Given the description of an element on the screen output the (x, y) to click on. 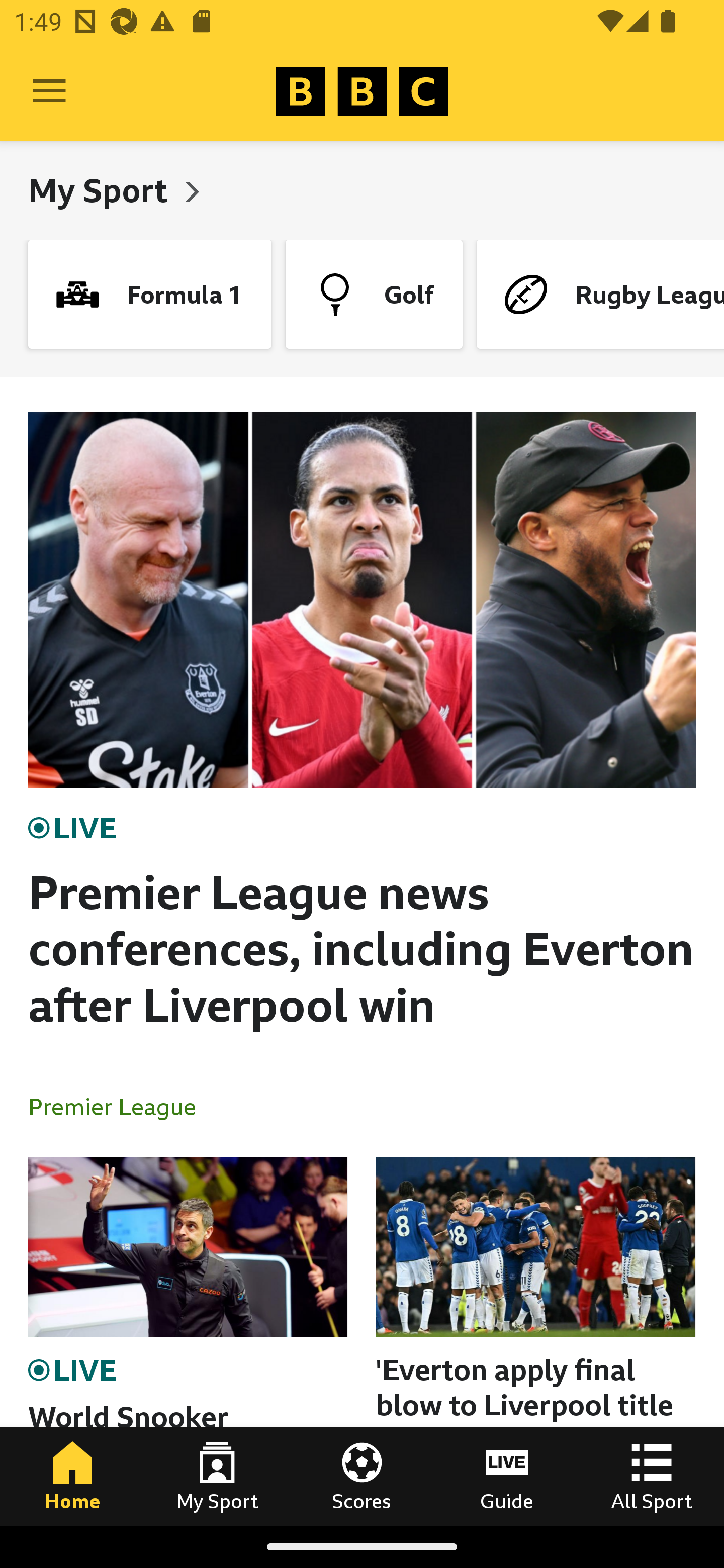
Open Menu (49, 91)
My Sport (101, 190)
Premier League In the section Premier League (119, 1106)
My Sport (216, 1475)
Scores (361, 1475)
Guide (506, 1475)
All Sport (651, 1475)
